Given the description of an element on the screen output the (x, y) to click on. 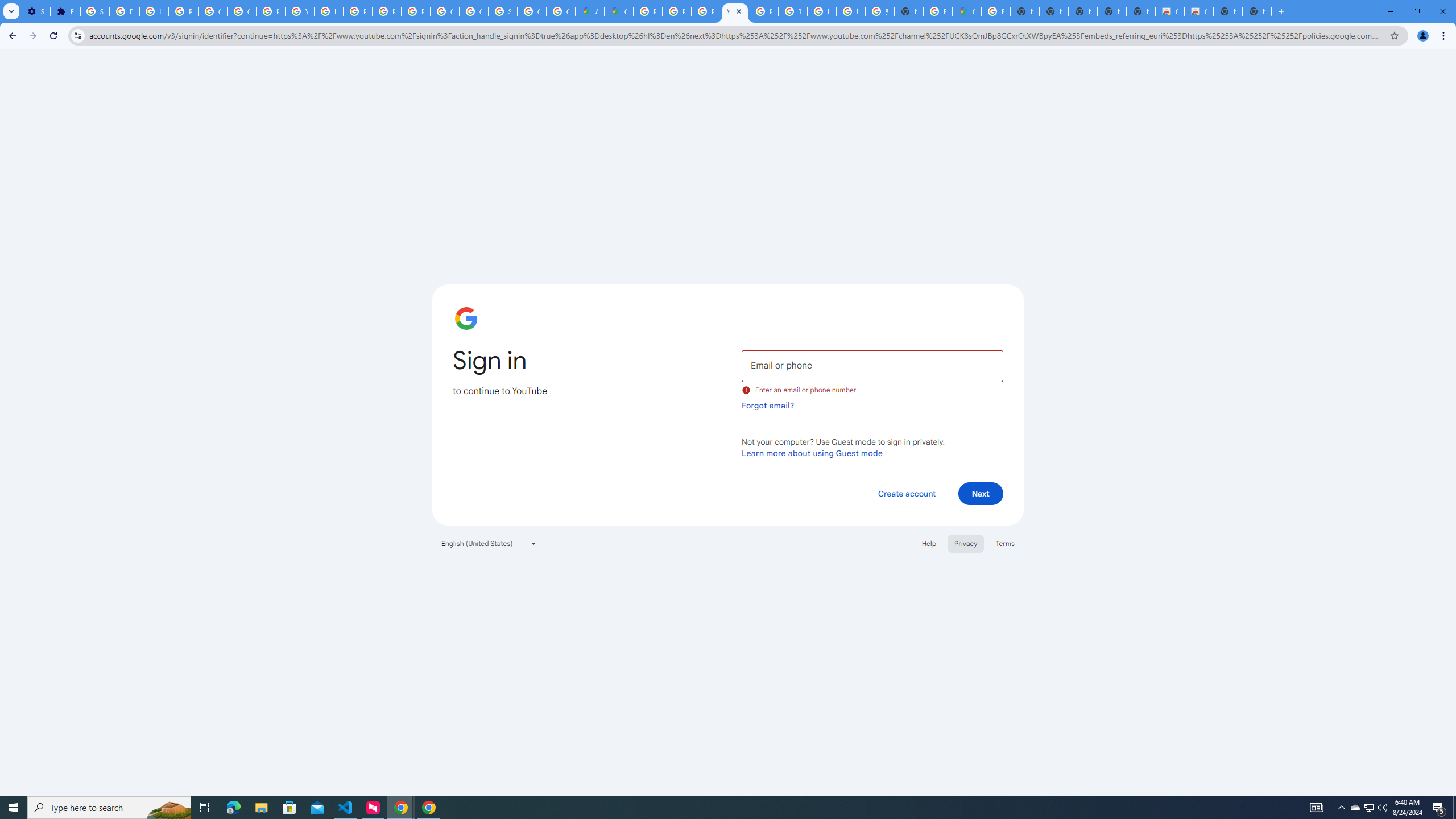
Next (980, 493)
Create your Google Account (560, 11)
Google Maps (619, 11)
